Given the description of an element on the screen output the (x, y) to click on. 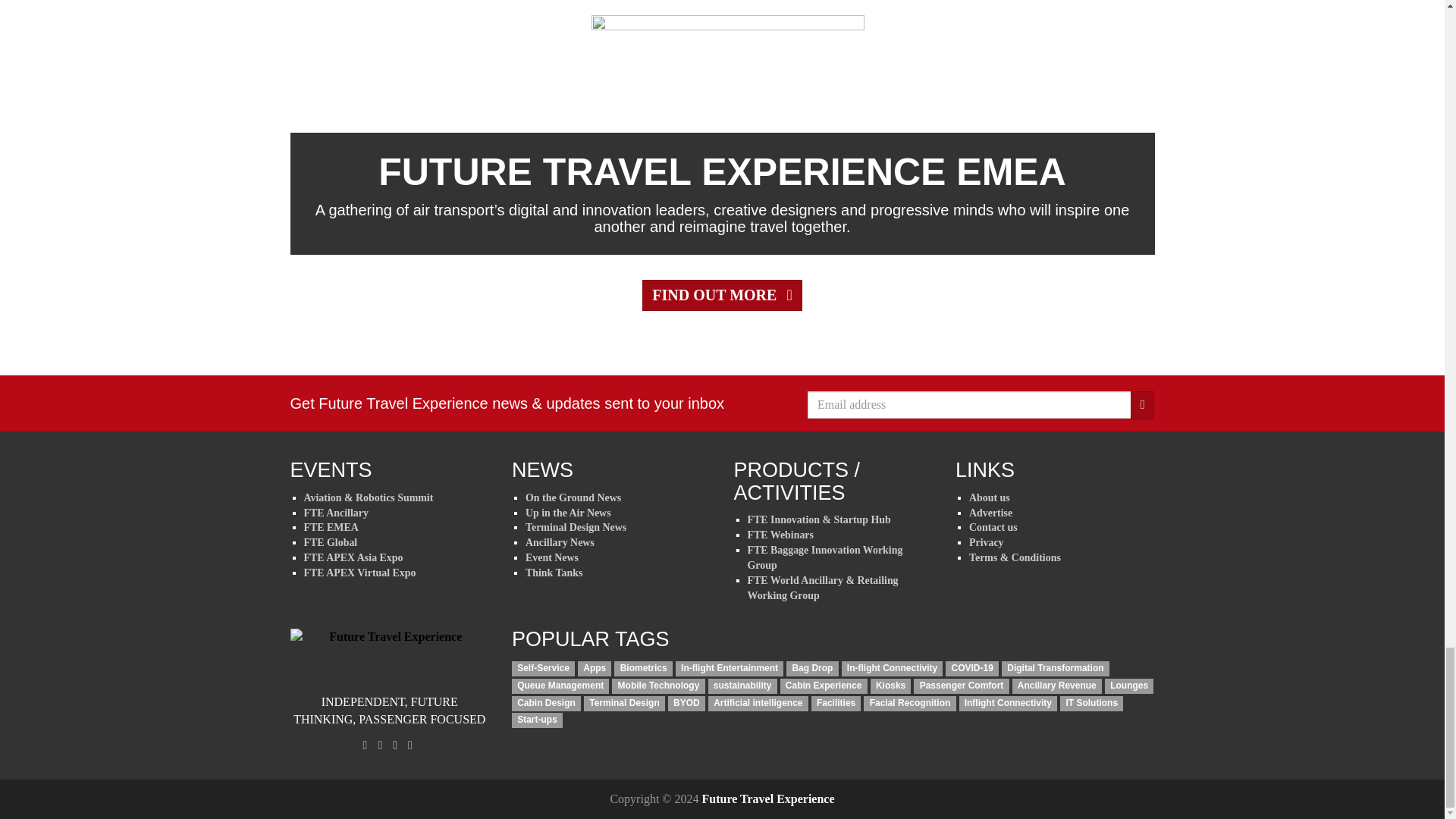
COVID-19 (971, 668)
In-flight Entertainment (729, 668)
Queue Management (560, 685)
In-flight Connectivity (892, 668)
Biometrics (642, 668)
Self-Service (543, 668)
Apps (594, 668)
Mobile Technology (657, 685)
Bag Drop (812, 668)
Digital Transformation (1055, 668)
